Given the description of an element on the screen output the (x, y) to click on. 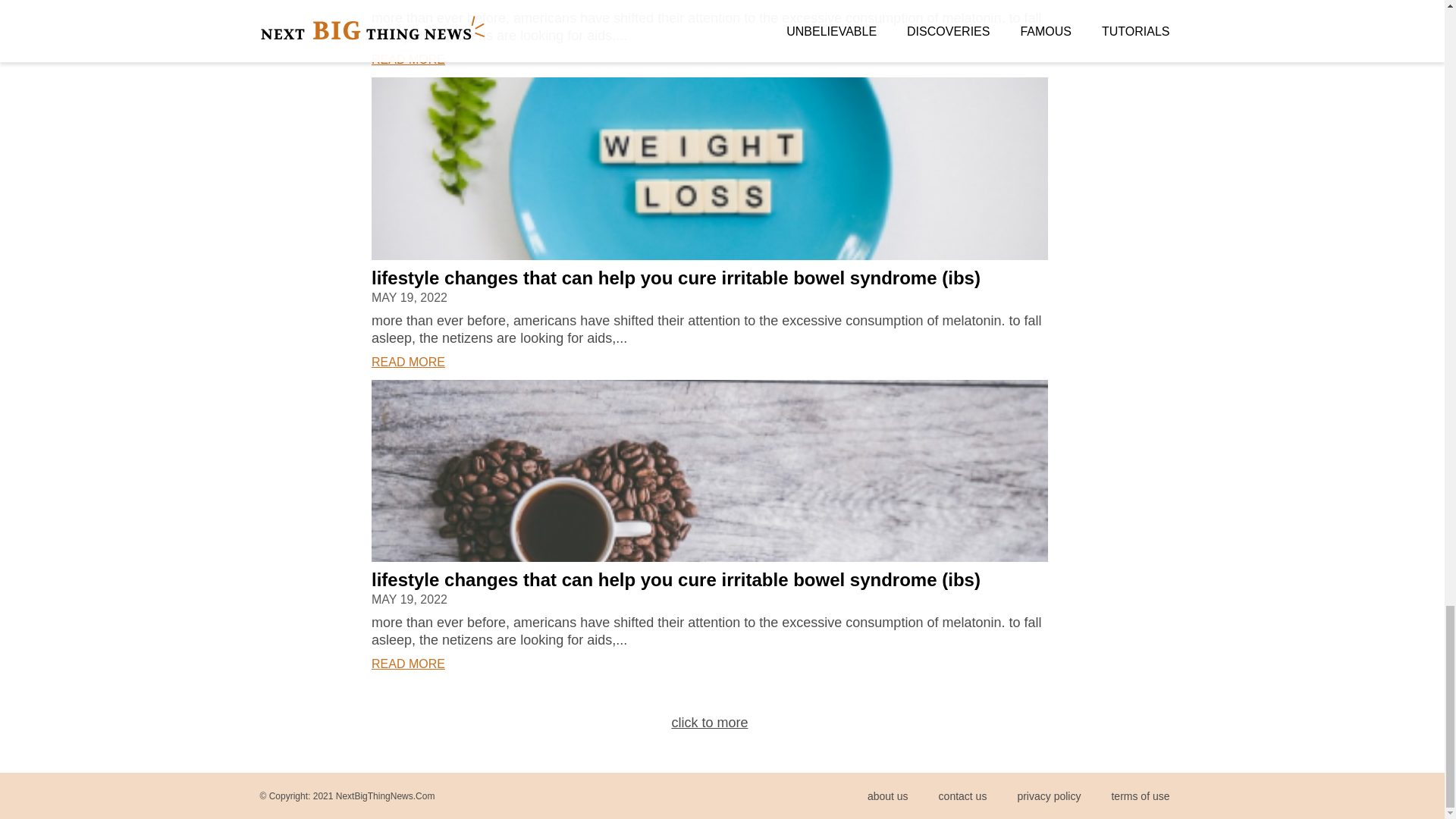
9:26 AM (408, 1)
9:26 AM (408, 0)
